Given the description of an element on the screen output the (x, y) to click on. 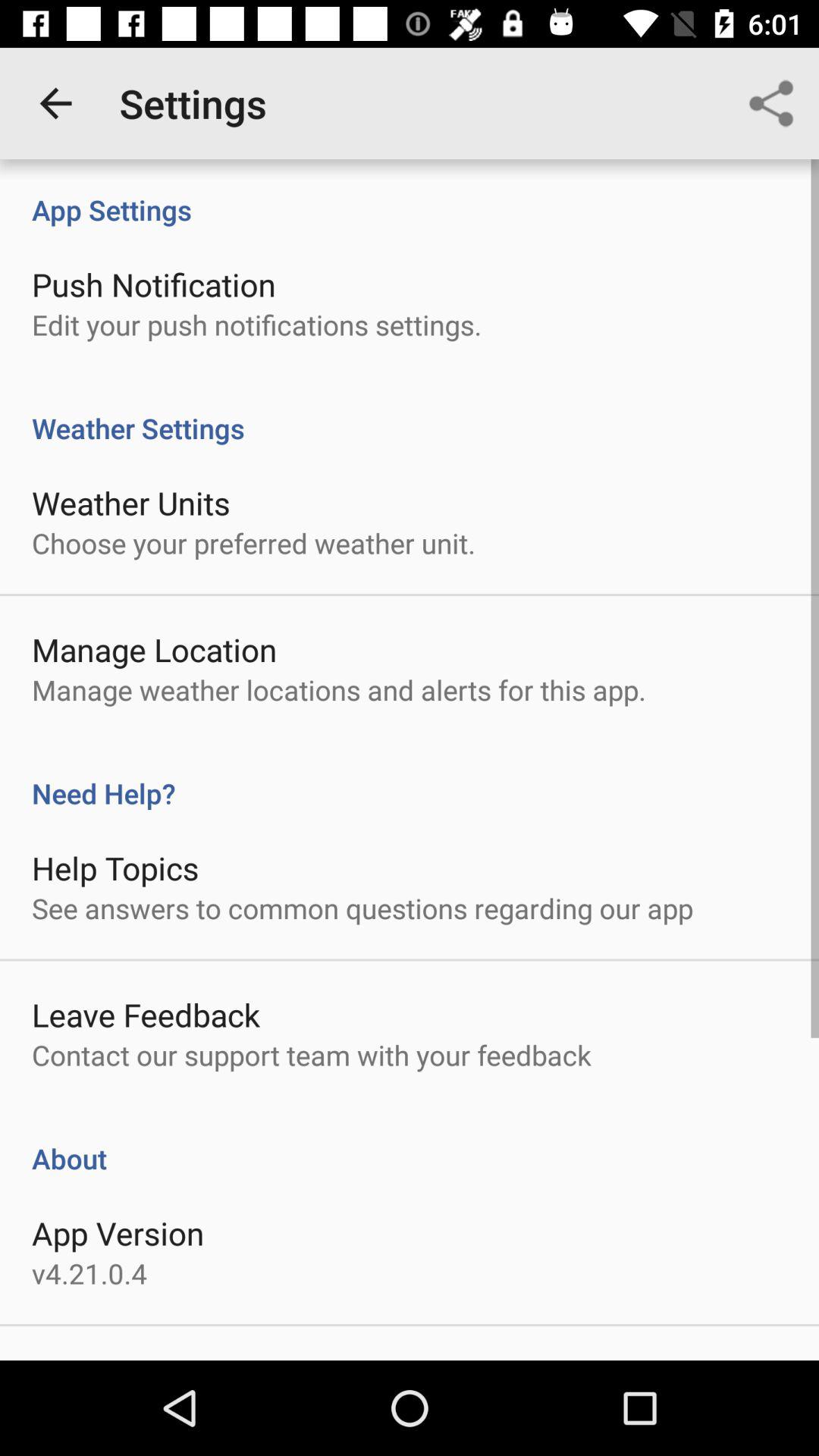
swipe to edit your push item (256, 324)
